Given the description of an element on the screen output the (x, y) to click on. 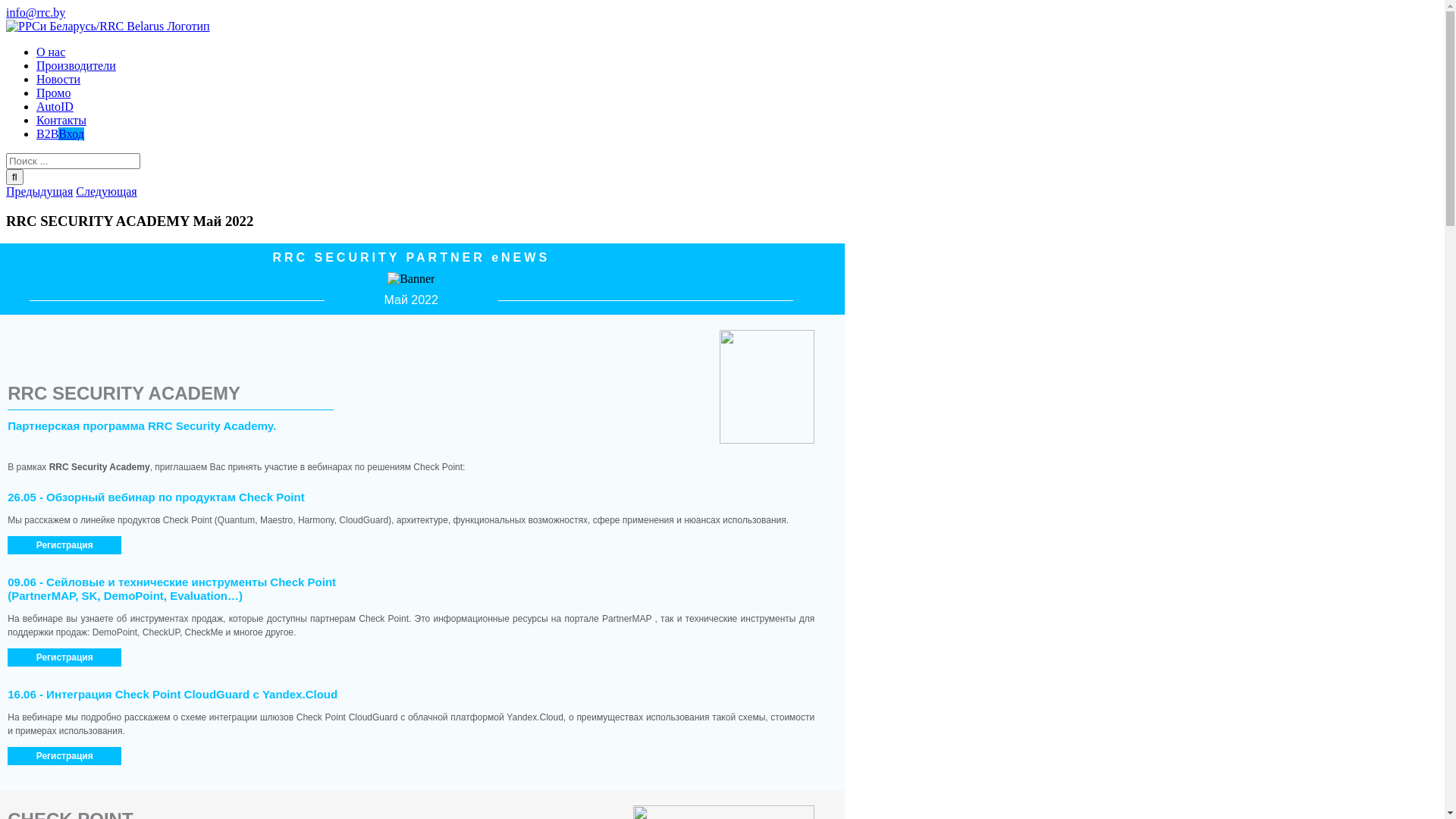
info@rrc.by Element type: text (35, 12)
Skip to content Element type: text (5, 5)
AutoID Element type: text (54, 106)
